Given the description of an element on the screen output the (x, y) to click on. 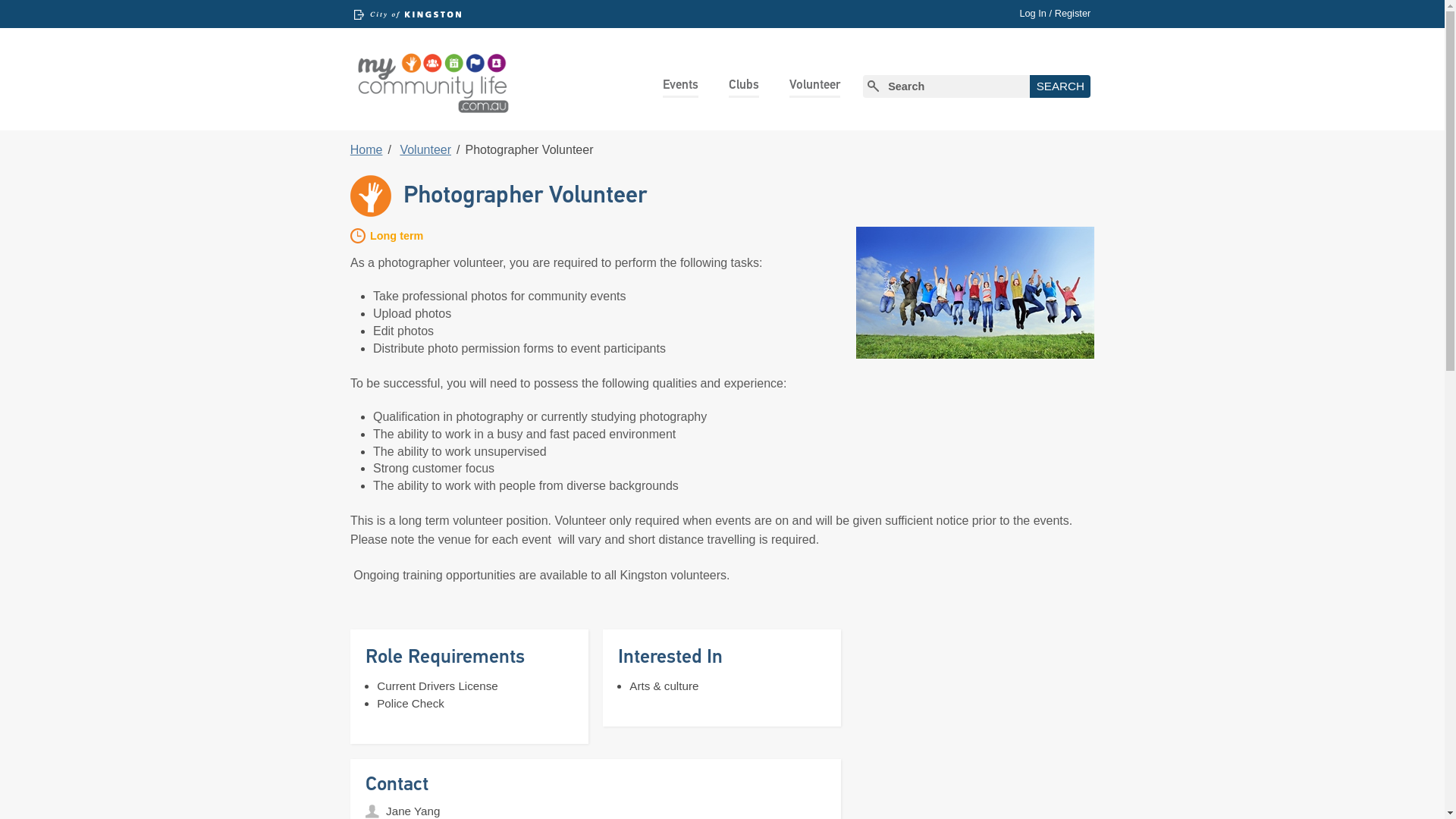
Home Element type: text (366, 149)
Search Element type: text (1059, 86)
Clubs Element type: text (743, 84)
City of Kingston Element type: hover (407, 14)
Events Element type: text (680, 84)
Log In / Register Element type: text (1054, 12)
Volunteer Element type: text (814, 84)
Kingston Community Life Element type: hover (432, 79)
Volunteer Element type: text (425, 149)
